Given the description of an element on the screen output the (x, y) to click on. 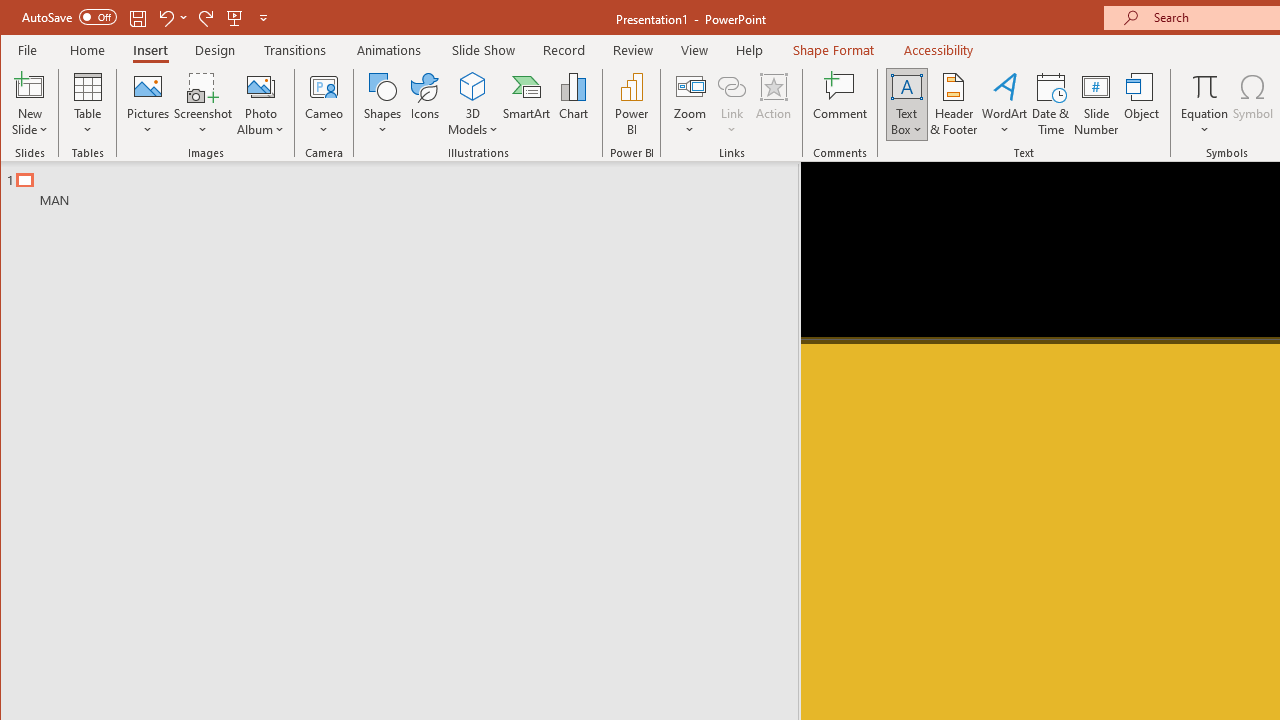
Screenshot (203, 104)
Symbol... (1253, 104)
Object... (1142, 104)
Slide Number (1096, 104)
